Given the description of an element on the screen output the (x, y) to click on. 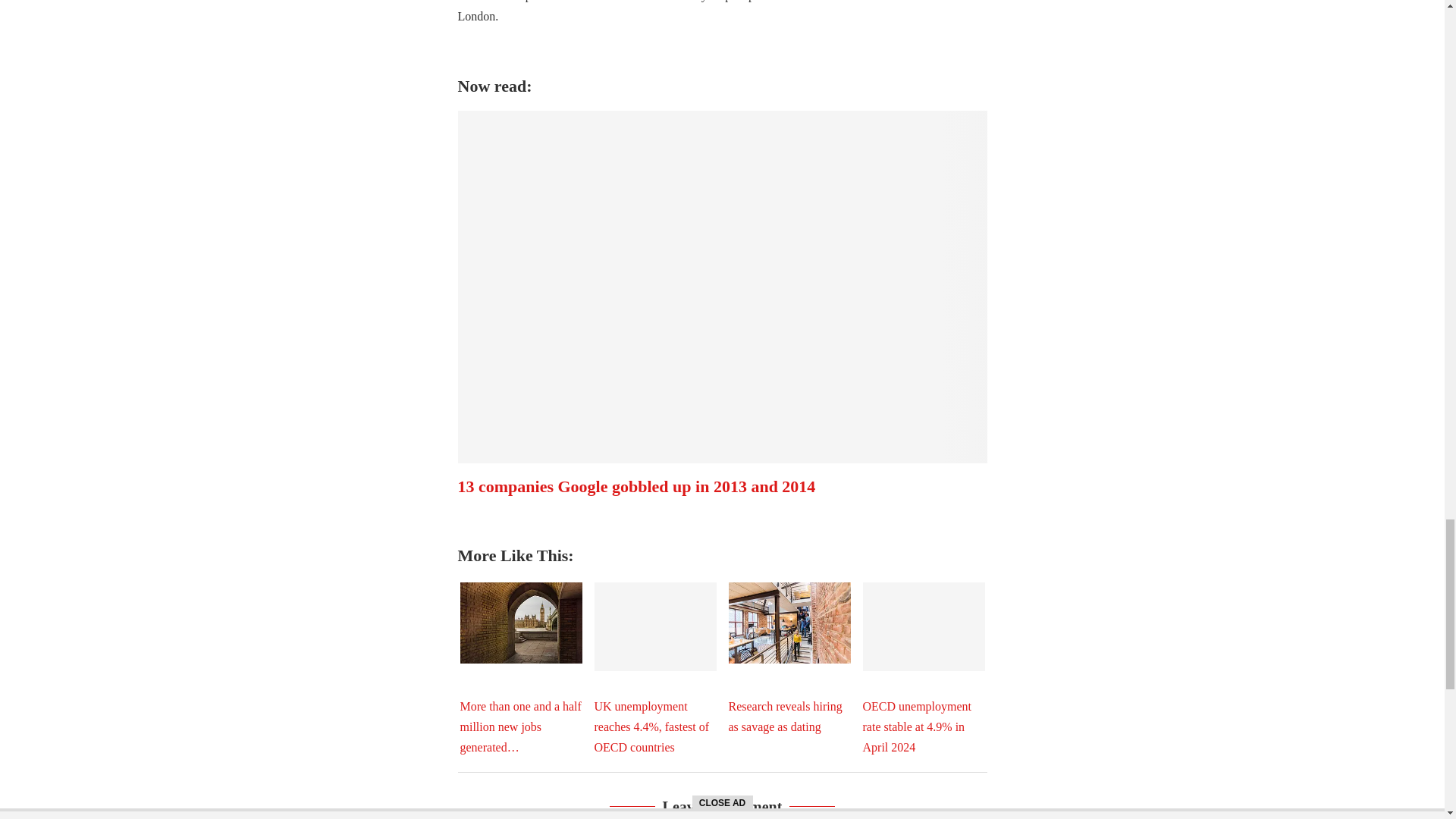
Research reveals hiring as savage as dating (789, 622)
